Given the description of an element on the screen output the (x, y) to click on. 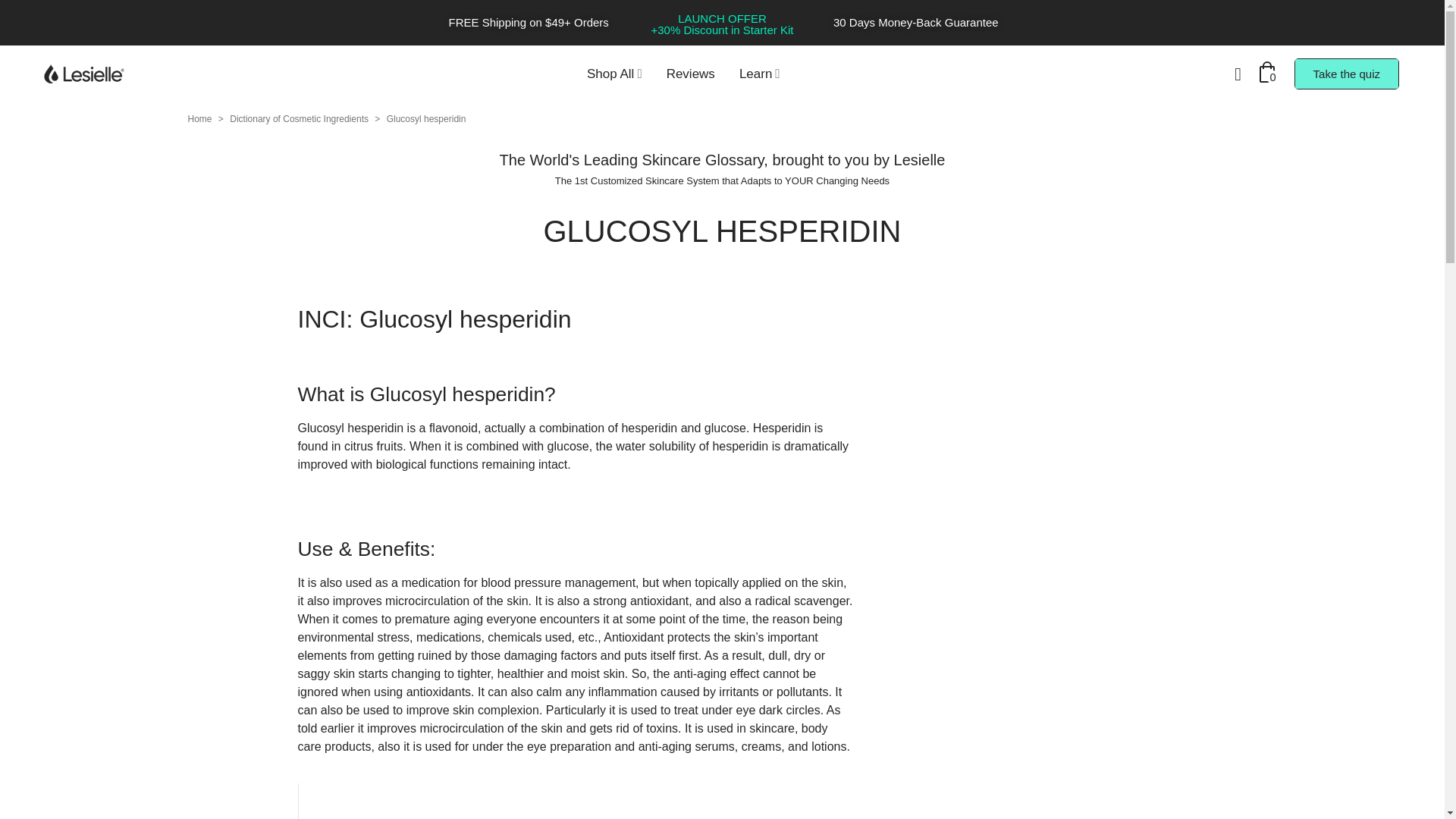
Shop All (614, 73)
0 (1270, 73)
Take the quiz (1346, 73)
Reviews (689, 73)
Log in to your customer account (1238, 73)
Dictionary of Cosmetic Ingredients (300, 118)
Reviews (689, 73)
Learn (759, 73)
30 Days Money-Back Guarantee (915, 21)
Learn (759, 73)
Lesielle (90, 74)
View my shopping cart (1270, 73)
Home (200, 118)
All (614, 73)
Customized Skincare System (655, 180)
